Given the description of an element on the screen output the (x, y) to click on. 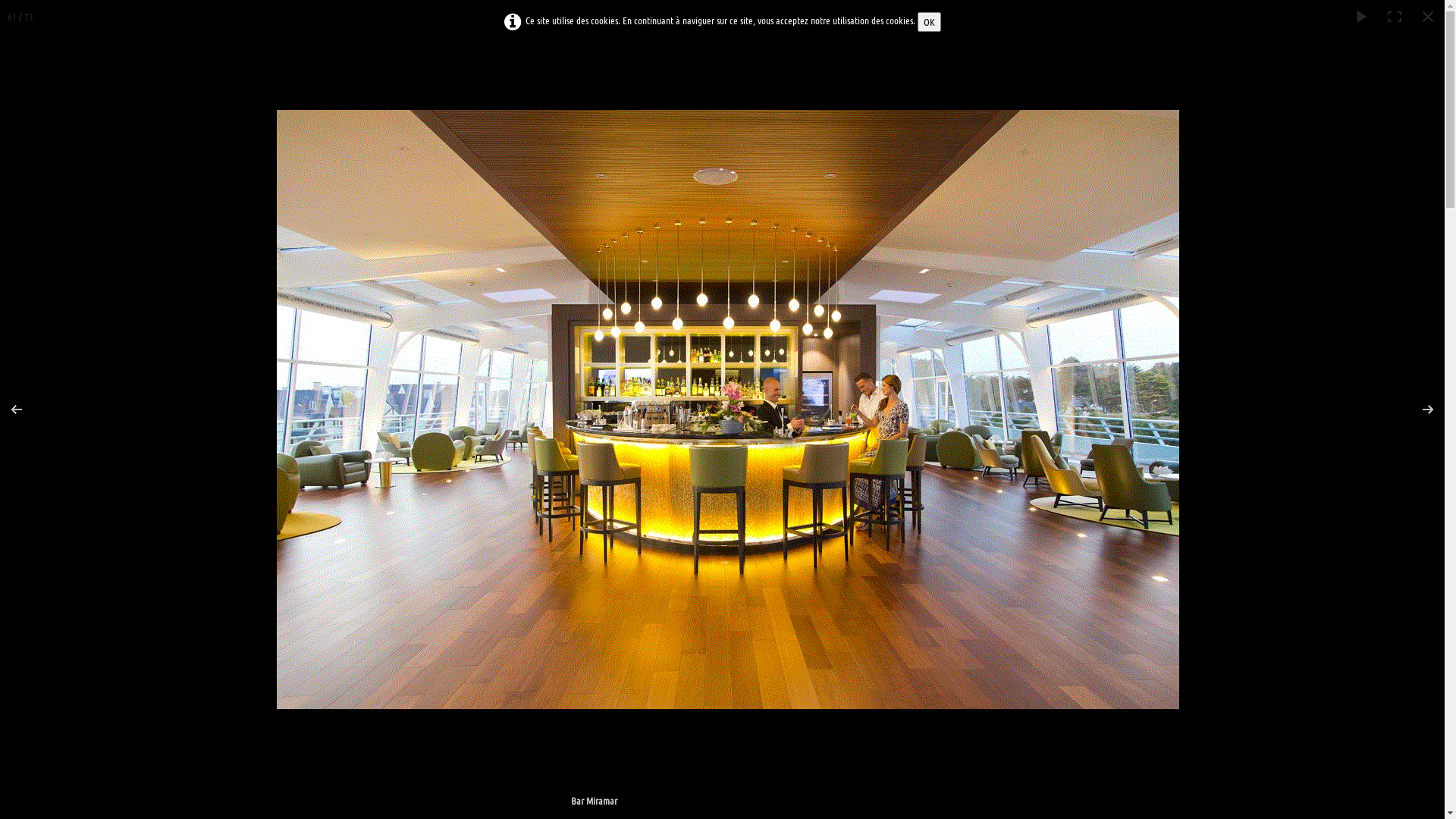
Album Element type: text (966, 162)
Au coin du feu Element type: hover (474, 594)
Piece de vie Element type: hover (985, 458)
Salon Element type: hover (644, 445)
Ti-Kabanouz ***
Sea, Breizh and Sun Element type: text (499, 83)
OK Element type: text (929, 21)
Plage du Fogeo Element type: hover (644, 309)
Diaporama  Element type: hover (1360, 16)
Les incontournables Element type: text (673, 162)
Suivant Element type: hover (1417, 409)
Equipements Element type: text (526, 162)
Piece de vie Element type: hover (644, 632)
Fermer Element type: hover (1427, 16)
Accueil Element type: text (389, 162)
Piscine Element type: hover (985, 743)
Plage du Fogeo Element type: hover (815, 725)
Espace repas Element type: hover (985, 316)
CGV Element type: text (1014, 162)
Plage du Fogeo Element type: hover (474, 309)
Plage du Fogeo Element type: hover (815, 309)
Salon Element type: hover (815, 445)
Espace TV Element type: hover (985, 601)
Description Element type: text (453, 162)
piece de vie Element type: hover (474, 445)
Trouver Ti Kabanouz Element type: text (776, 162)
